Given the description of an element on the screen output the (x, y) to click on. 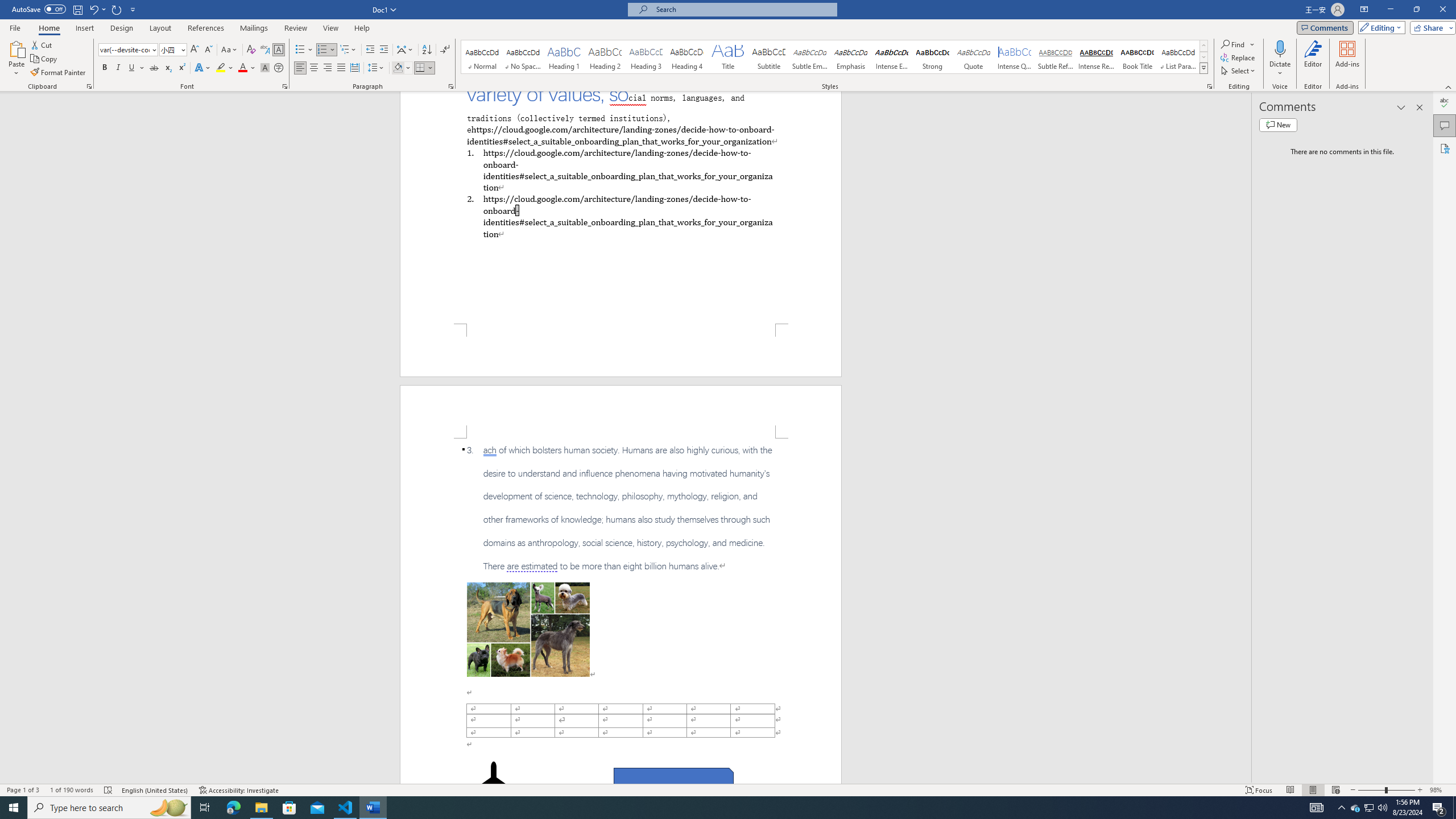
Class: MsoCommandBar (728, 789)
1. (620, 169)
Airplane with solid fill (493, 783)
Close pane (1419, 107)
Strong (932, 56)
Copy (45, 58)
Footer -Section 1- (620, 349)
Office Clipboard... (88, 85)
Accessibility (1444, 147)
Font... (285, 85)
